Given the description of an element on the screen output the (x, y) to click on. 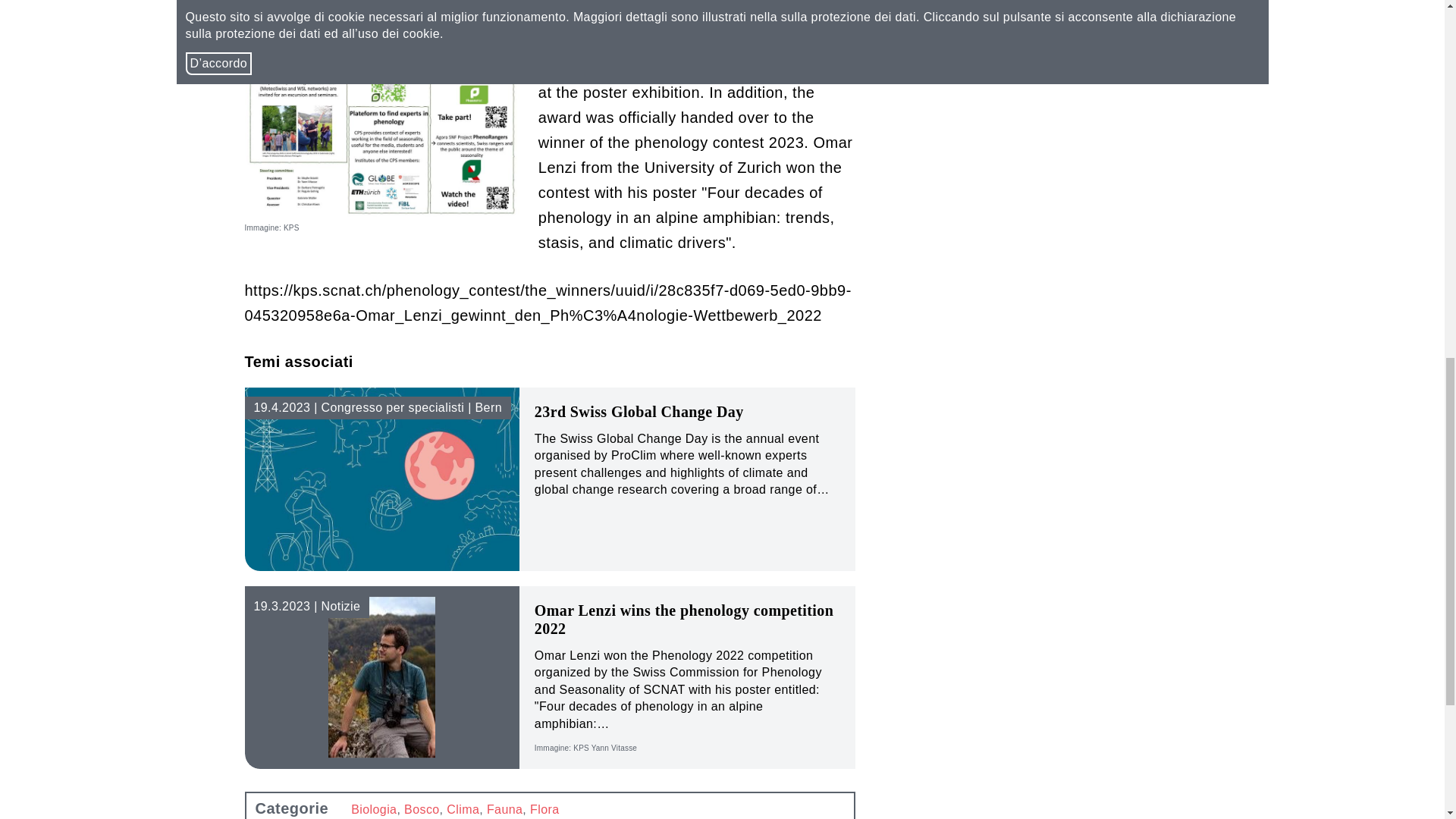
Notizie (306, 606)
Swiss Global Change Day Teaser (381, 478)
